Given the description of an element on the screen output the (x, y) to click on. 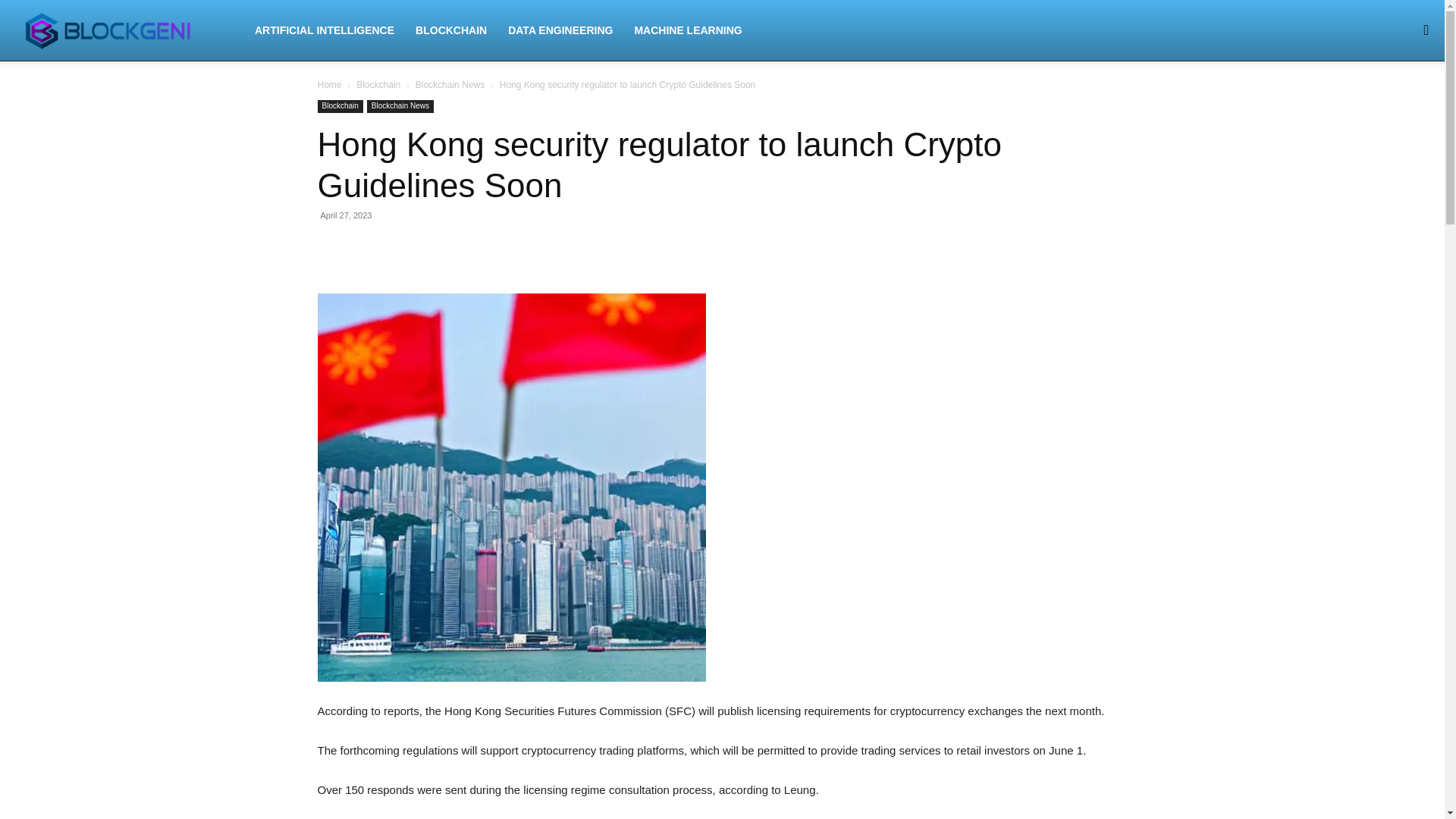
ARTIFICIAL INTELLIGENCE (324, 30)
BLOCKGENI (129, 30)
View all posts in Blockchain News (449, 84)
View all posts in Blockchain (378, 84)
